Given the description of an element on the screen output the (x, y) to click on. 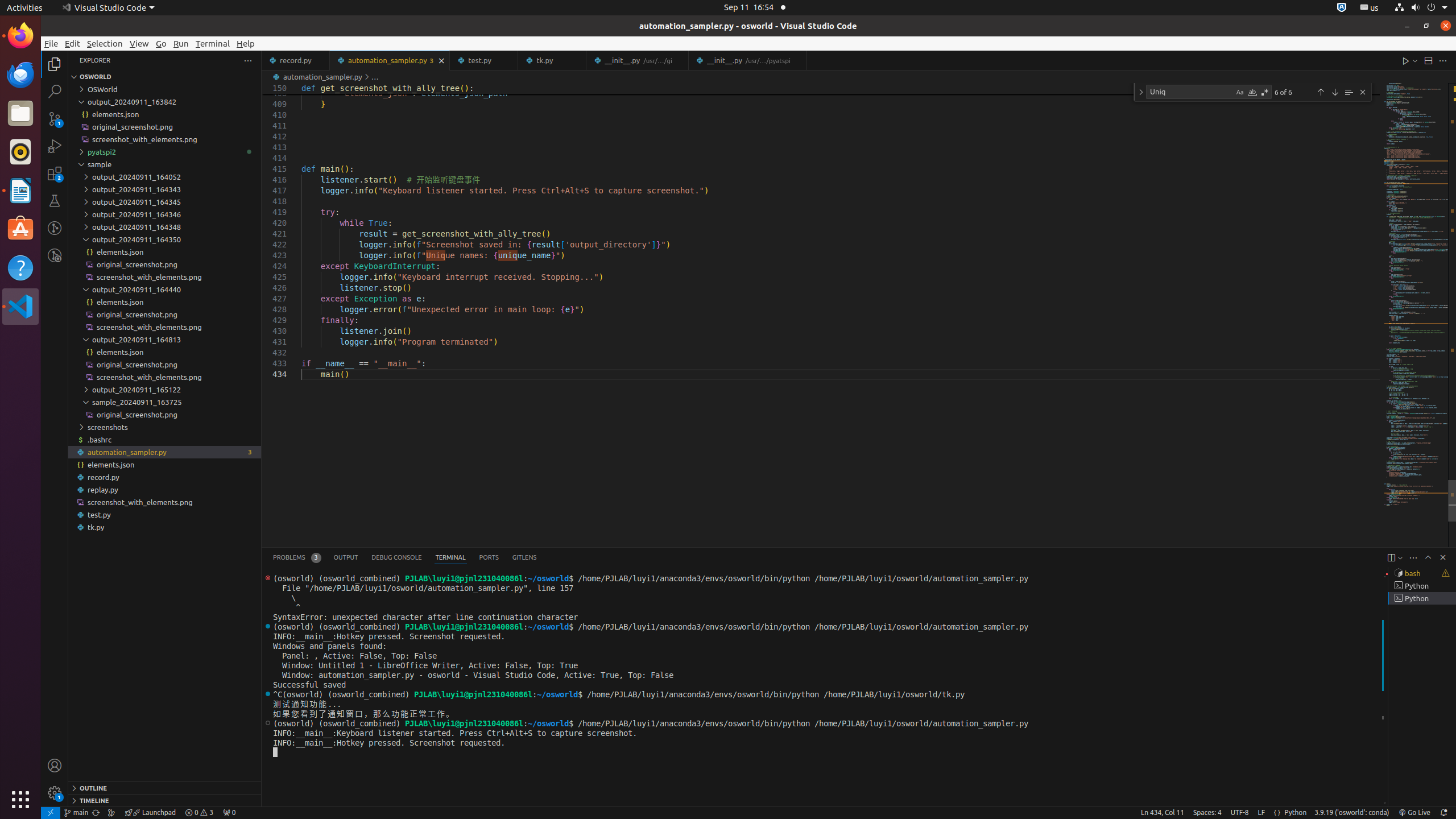
Firefox Web Browser Element type: push-button (20, 35)
New Terminal (Ctrl+Shift+`) [Alt] Split Terminal (Ctrl+Shift+5) Element type: push-button (1390, 557)
Run and Debug (Ctrl+Shift+D) Element type: page-tab (54, 145)
Hide Panel Element type: push-button (1442, 557)
3.9.19 ('osworld': conda), ~/anaconda3/envs/osworld/bin/python Element type: push-button (1351, 812)
